Given the description of an element on the screen output the (x, y) to click on. 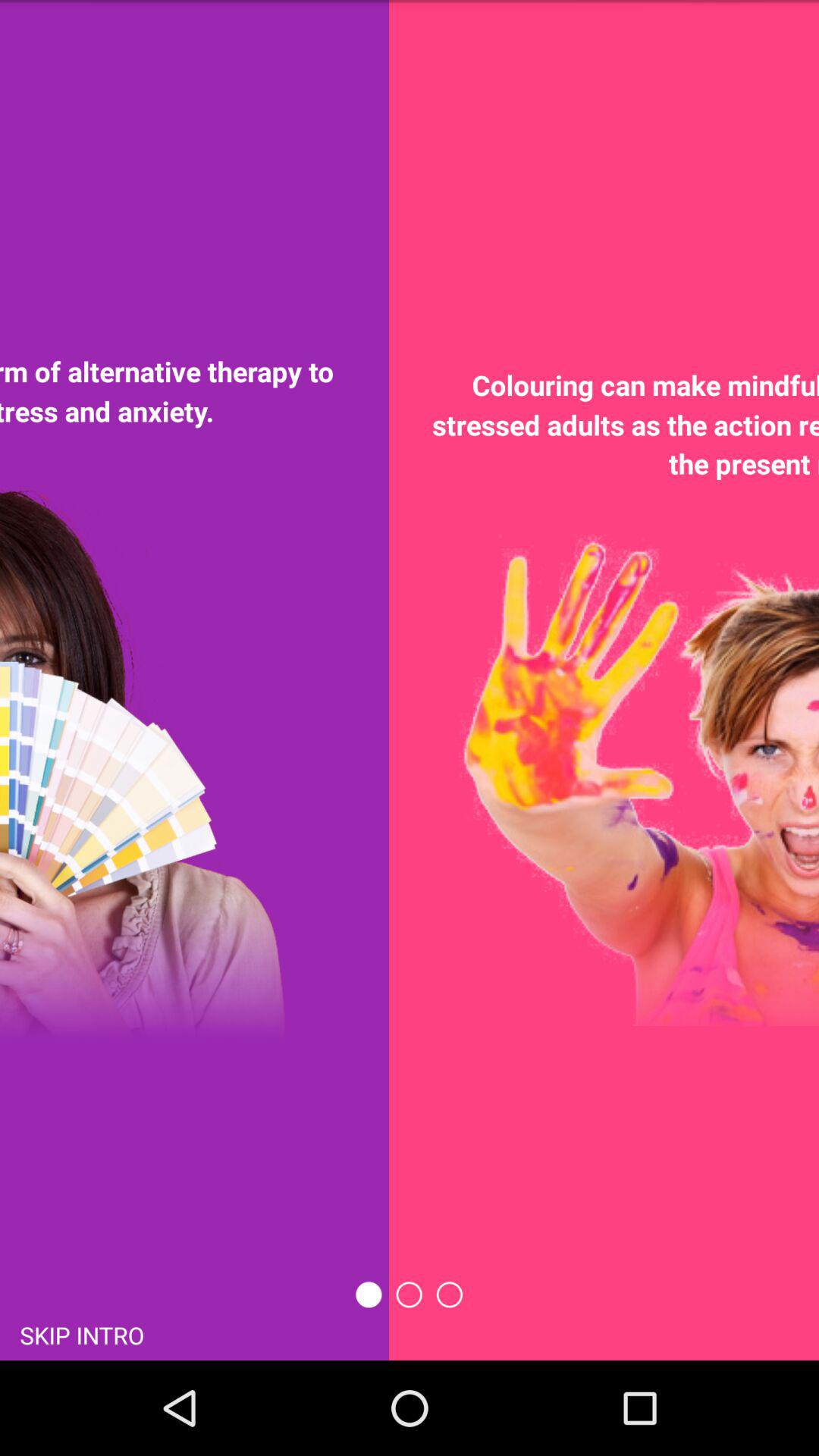
click skip intro item (81, 1334)
